Given the description of an element on the screen output the (x, y) to click on. 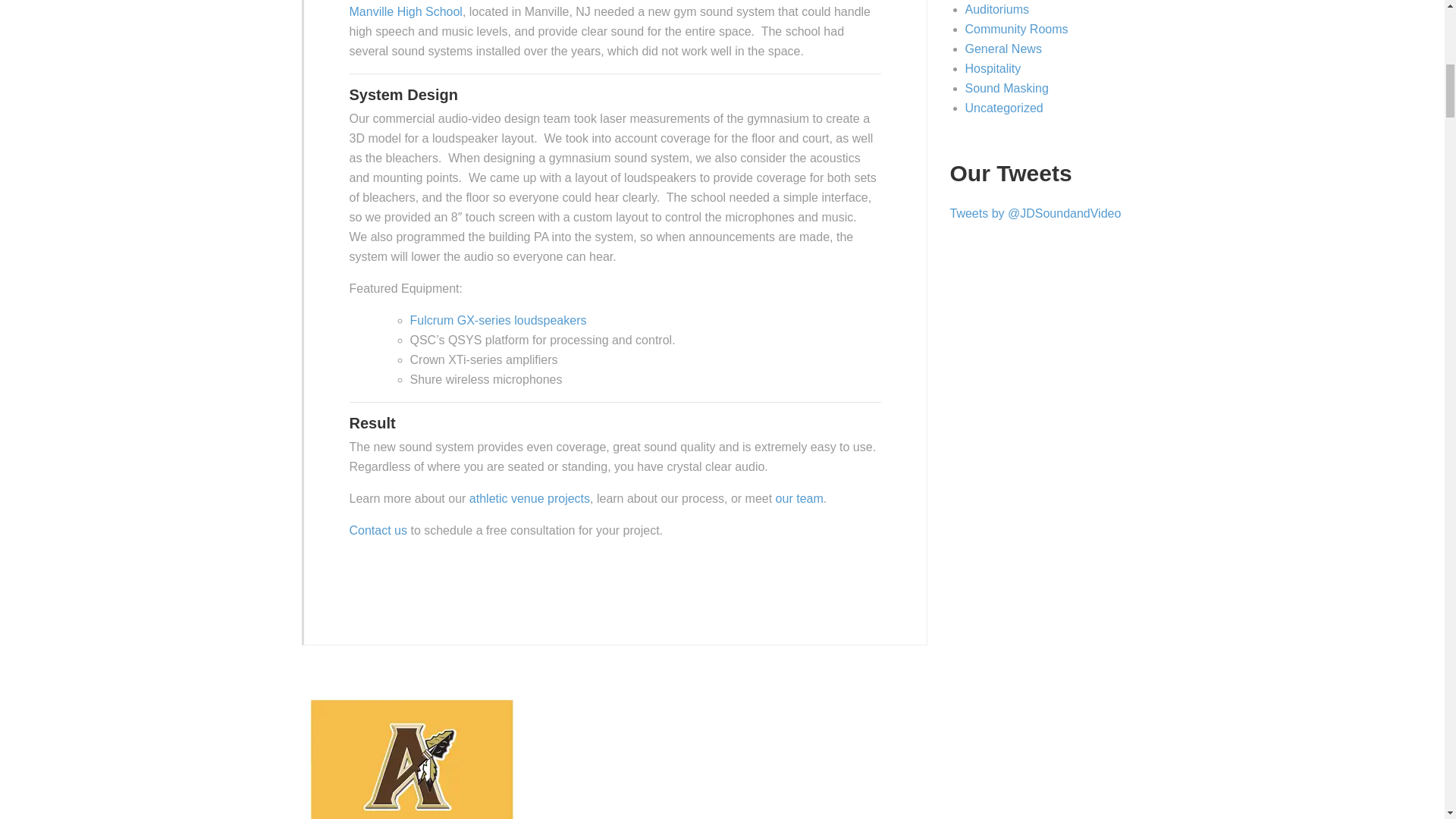
Manville High School (405, 11)
Fulcrum GX-series loudspeakers (497, 319)
our team (800, 498)
athletic venue projects (528, 498)
